Given the description of an element on the screen output the (x, y) to click on. 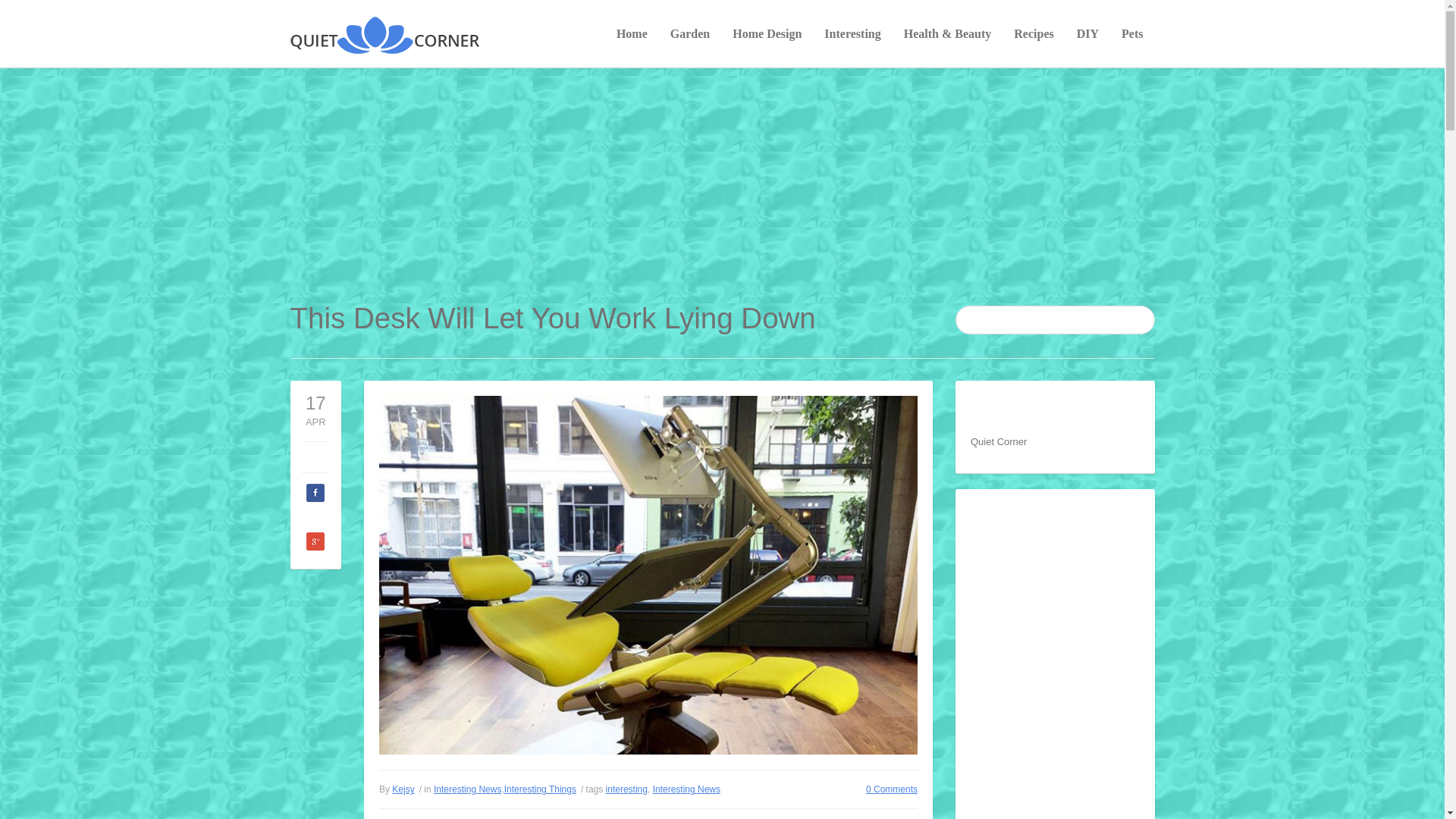
Posts by Kejsy (402, 788)
